Given the description of an element on the screen output the (x, y) to click on. 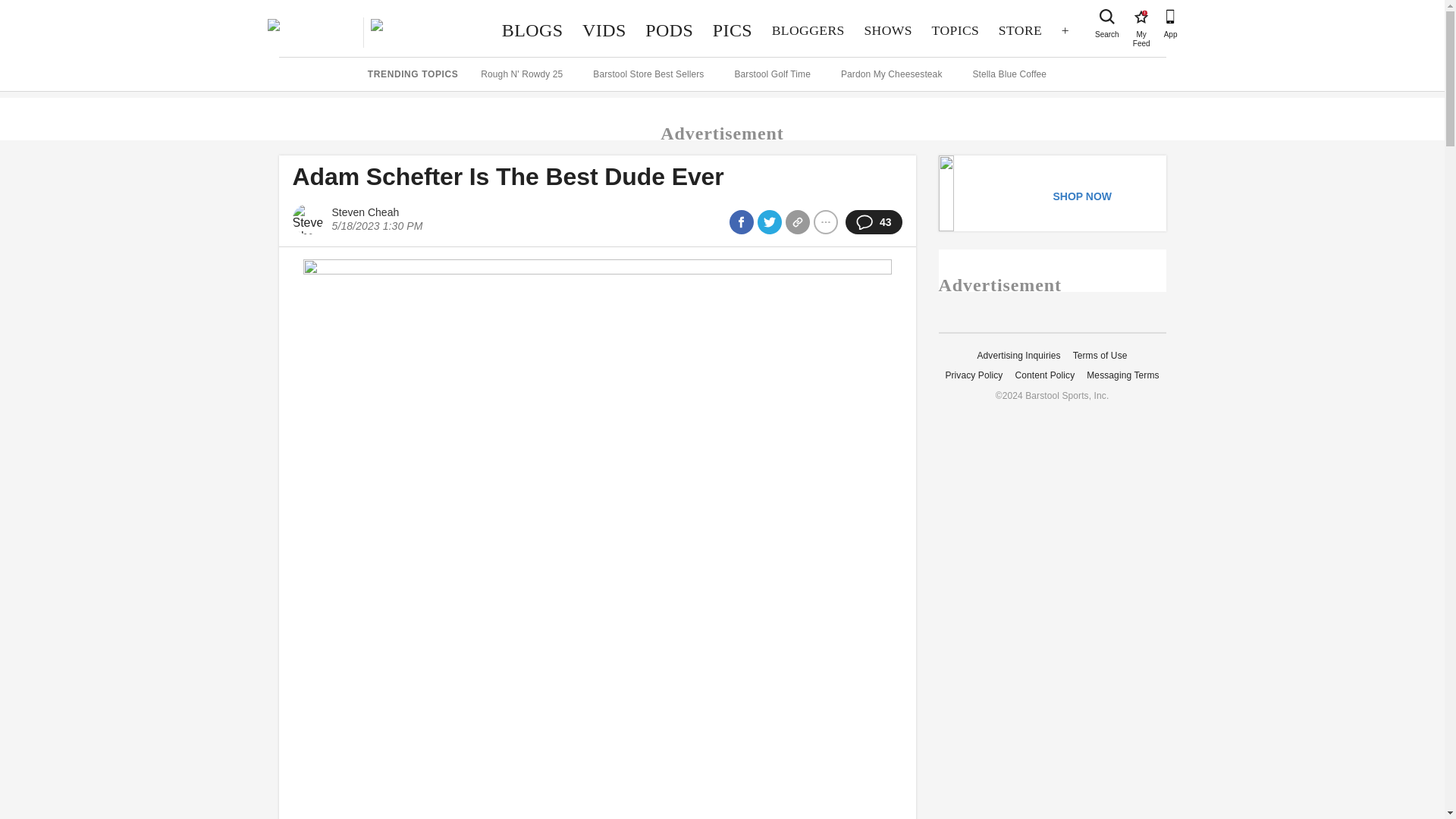
STORE (1141, 16)
TOPICS (1019, 30)
PICS (954, 30)
VIDS (732, 30)
BLOGS (603, 30)
BLOGGERS (532, 30)
PODS (807, 30)
SHOWS (668, 30)
Search (887, 30)
